Given the description of an element on the screen output the (x, y) to click on. 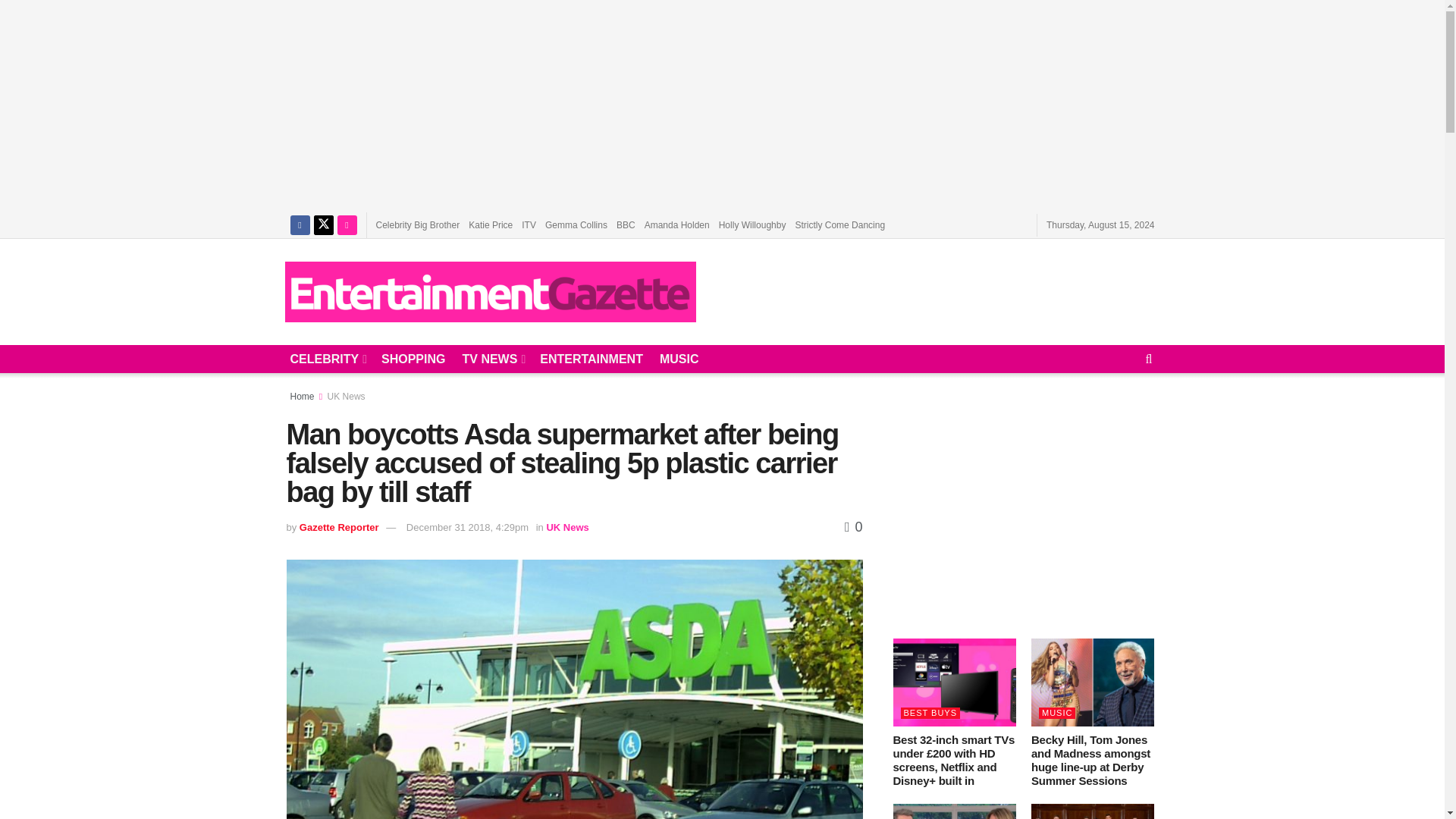
Gemma Collins (575, 225)
Holly Willoughby (752, 225)
ENTERTAINMENT (591, 358)
TV NEWS (491, 358)
Strictly Come Dancing (839, 225)
Katie Price (490, 225)
Celebrity Big Brother (417, 225)
SHOPPING (413, 358)
MUSIC (678, 358)
CELEBRITY (327, 358)
